Given the description of an element on the screen output the (x, y) to click on. 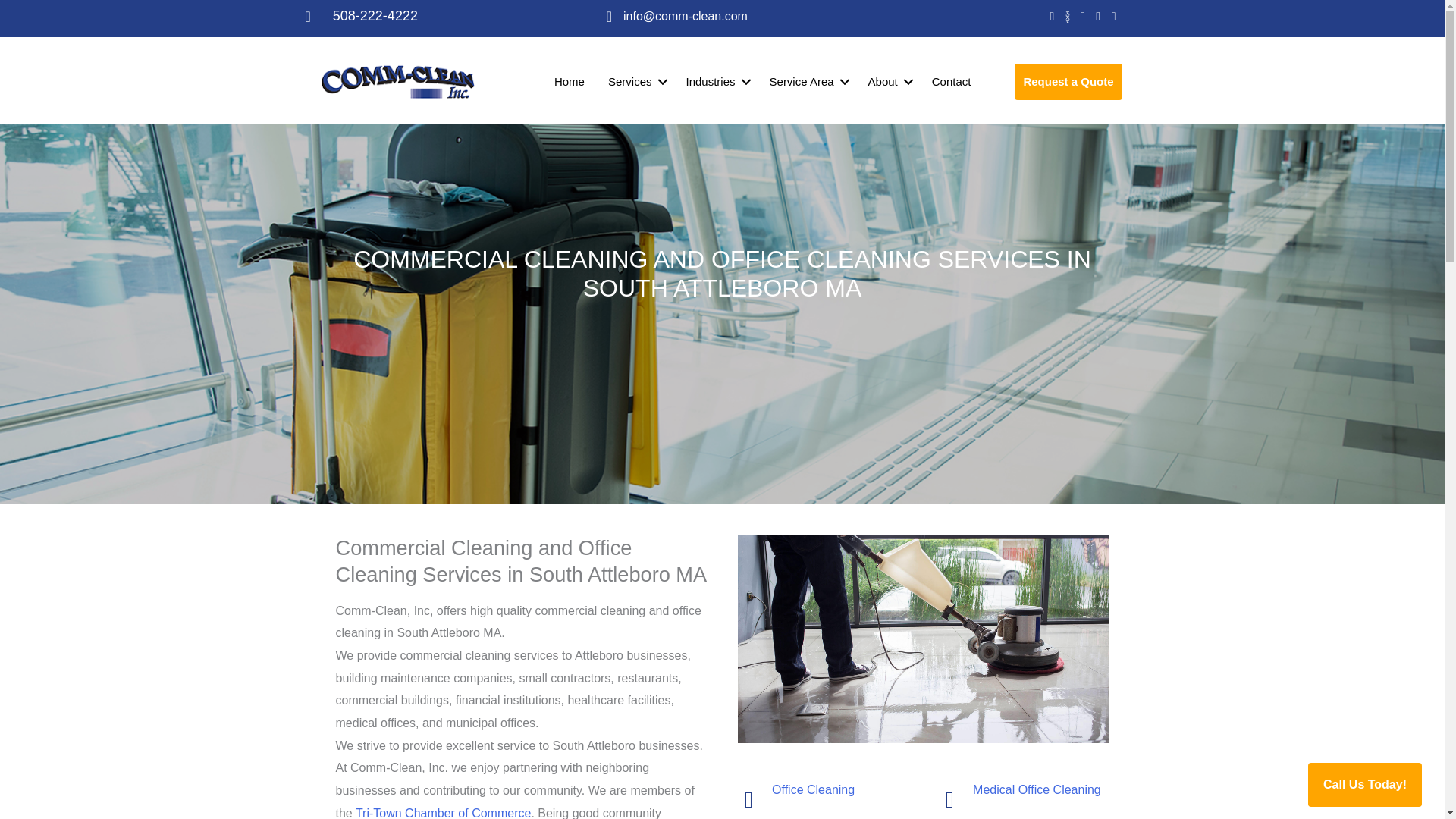
Services (635, 81)
Home (569, 81)
Industries (715, 81)
Click Here (1067, 81)
508-222-4222 (375, 16)
Service Area (807, 81)
